Given the description of an element on the screen output the (x, y) to click on. 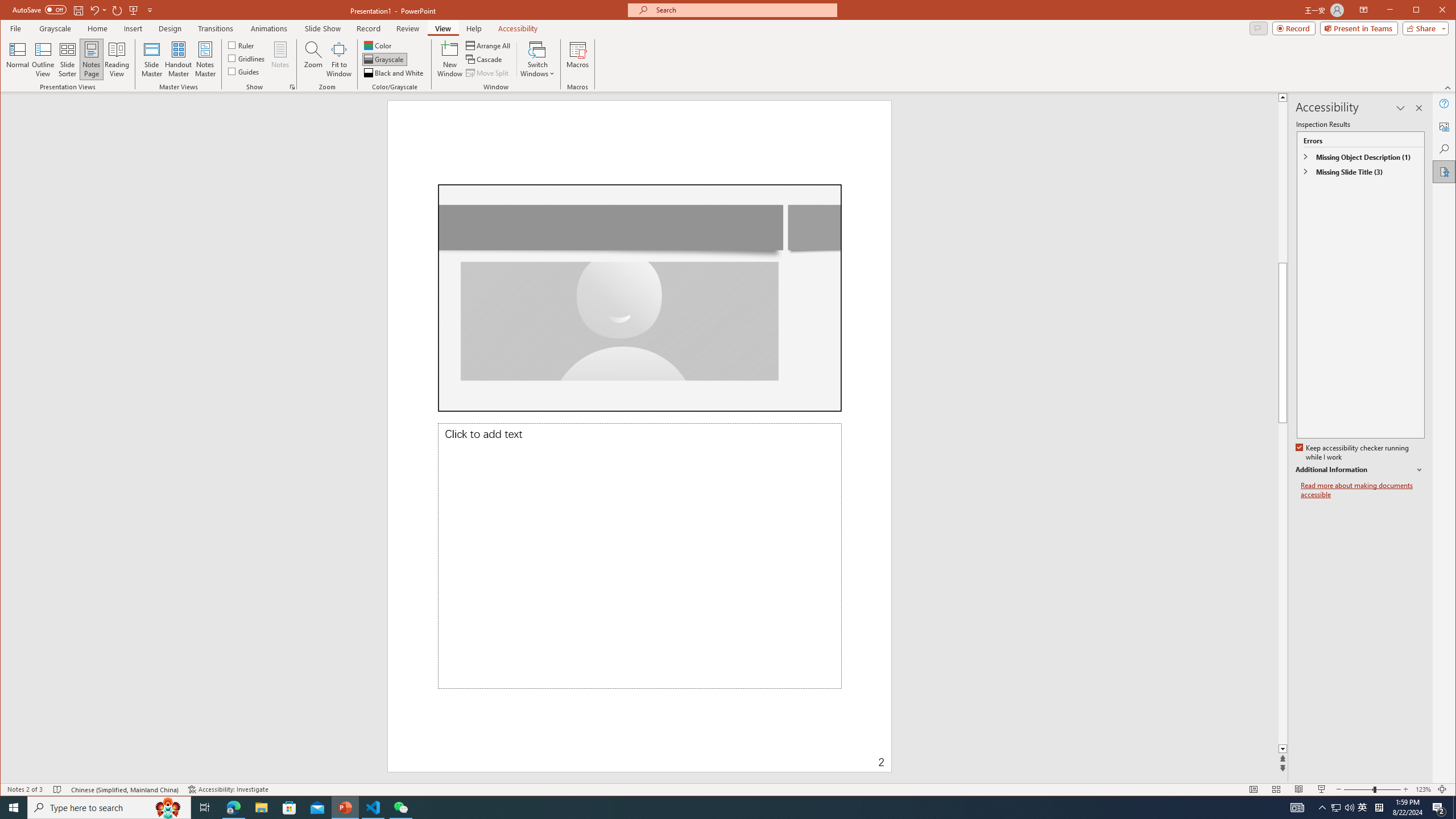
Search (1444, 148)
